Given the description of an element on the screen output the (x, y) to click on. 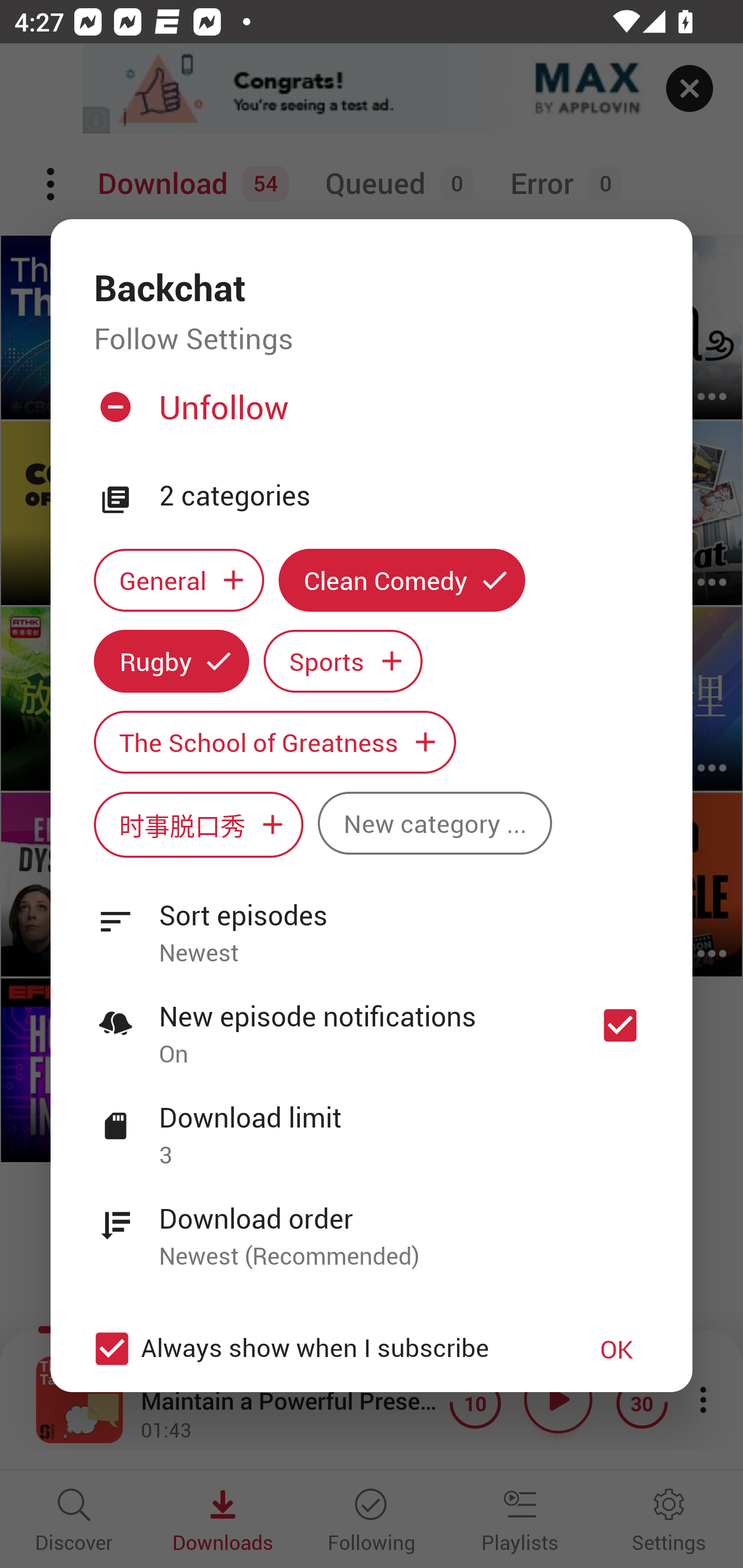
Unfollow (369, 415)
2 categories (404, 495)
General (178, 579)
Clean Comedy (401, 579)
Rugby (170, 661)
Sports (342, 661)
The School of Greatness (274, 741)
时事脱口秀 (198, 824)
New category ... (435, 822)
Sort episodes Newest (371, 922)
New episode notifications (620, 1025)
Download limit 3 (371, 1125)
Download order Newest (Recommended) (371, 1226)
OK (616, 1349)
Always show when I subscribe (320, 1349)
